Given the description of an element on the screen output the (x, y) to click on. 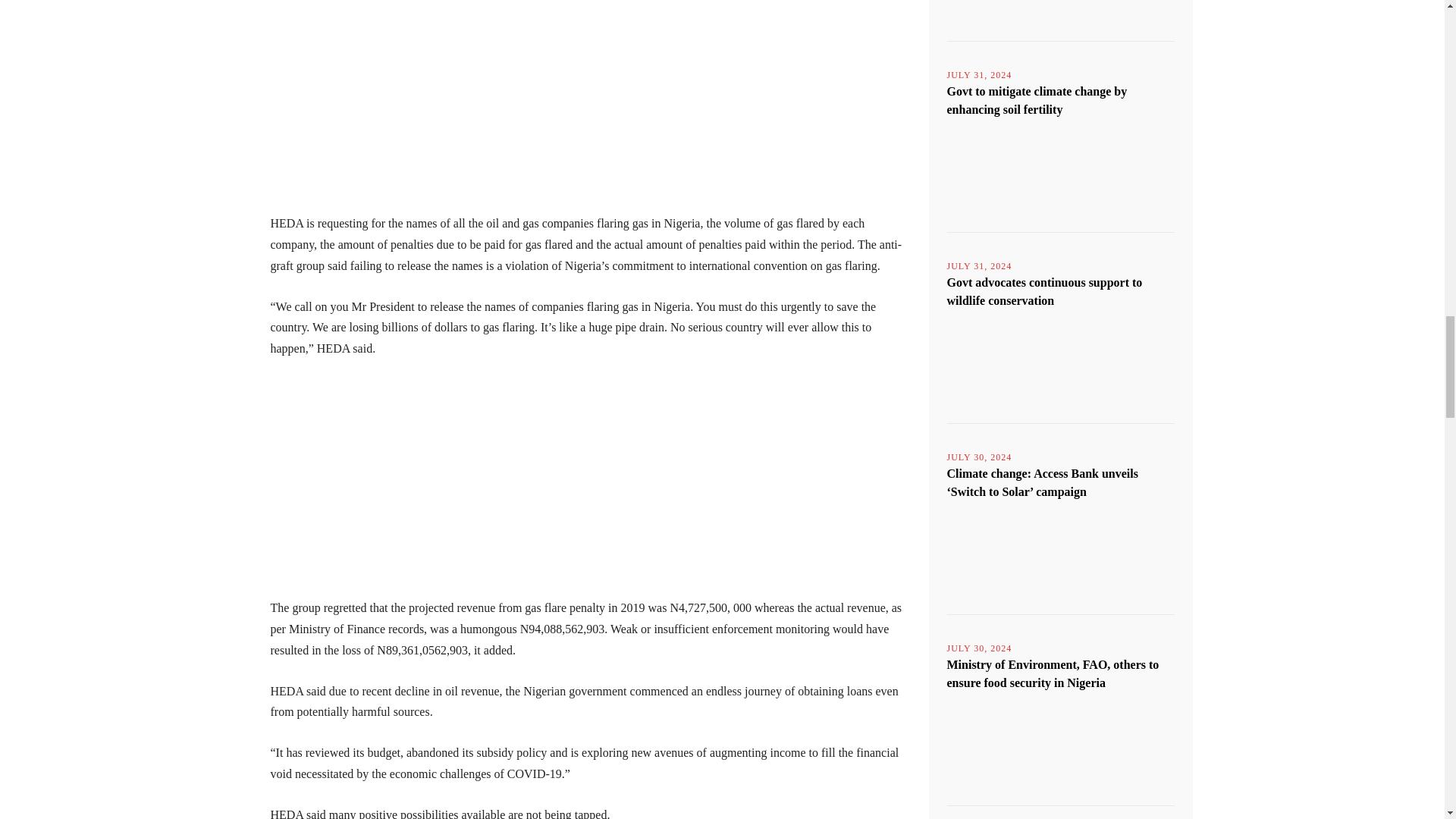
Advertisement (589, 103)
